Given the description of an element on the screen output the (x, y) to click on. 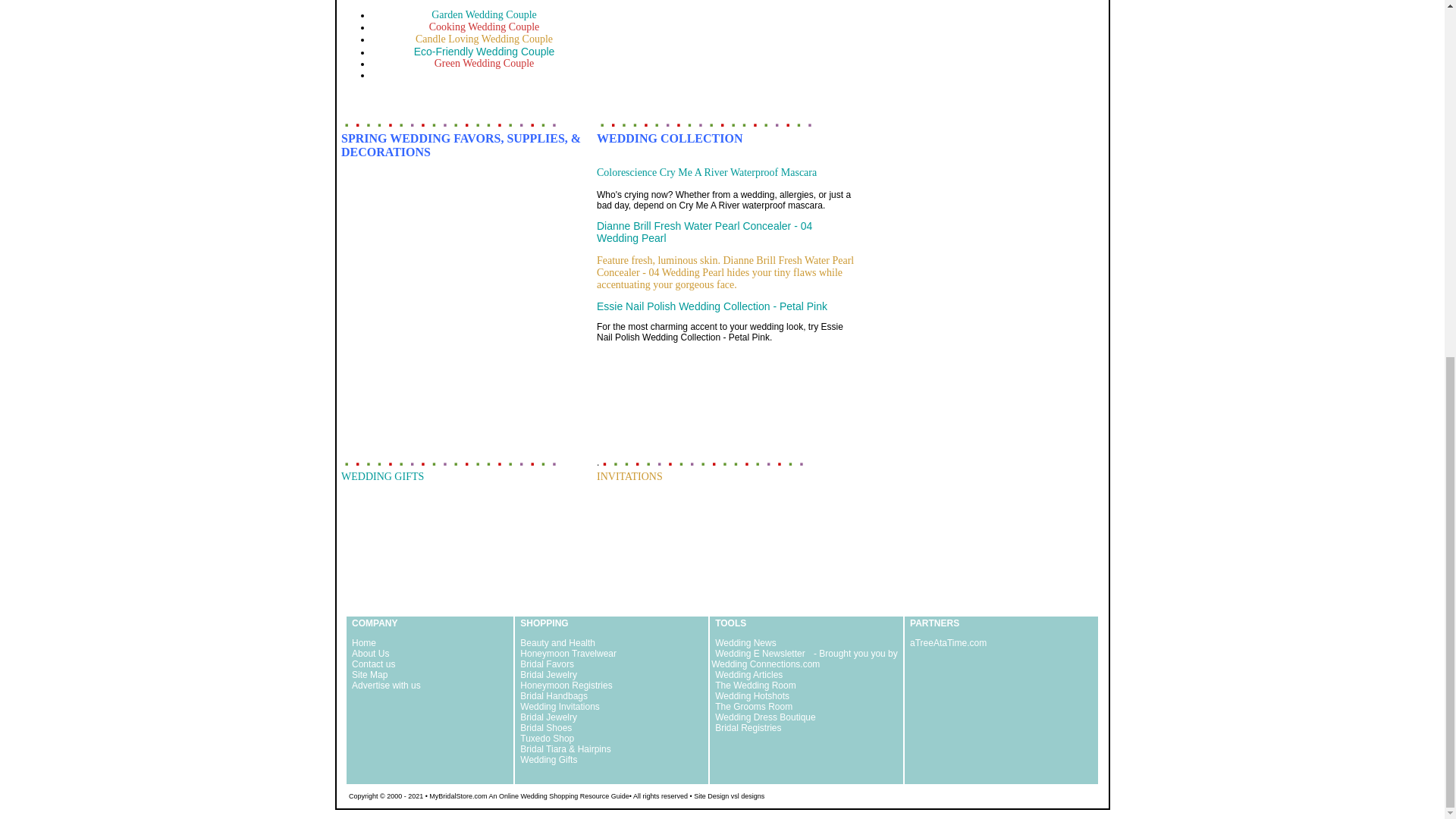
Beauty and Health (556, 643)
Eco-Friendly Wedding Couple (483, 51)
Candle Loving Wedding Couple (483, 39)
Advertise with us (385, 685)
Contact us (372, 664)
About Us (369, 653)
Site Map (368, 674)
Garden Wedding Couple (483, 14)
Home (362, 643)
Green Wedding Couple (483, 62)
